Given the description of an element on the screen output the (x, y) to click on. 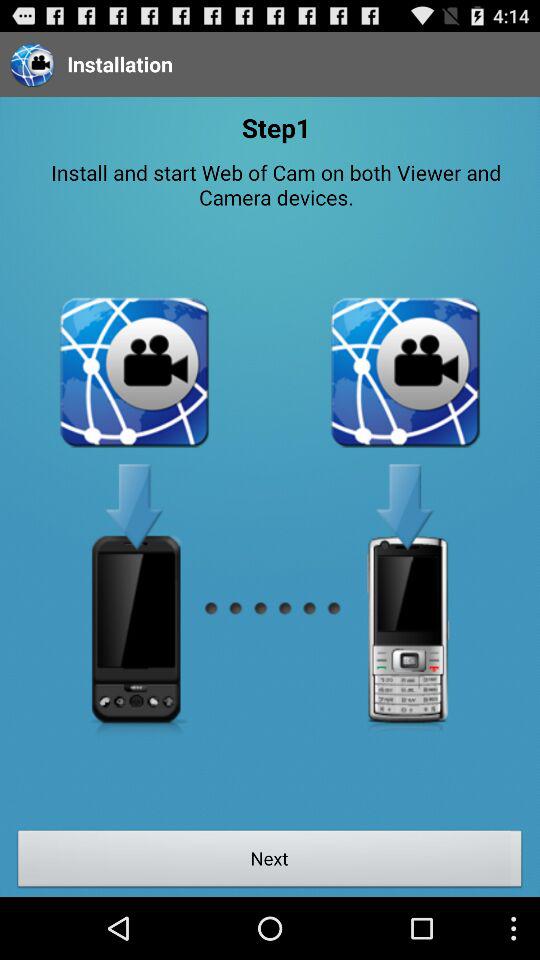
swipe until the next item (269, 861)
